Given the description of an element on the screen output the (x, y) to click on. 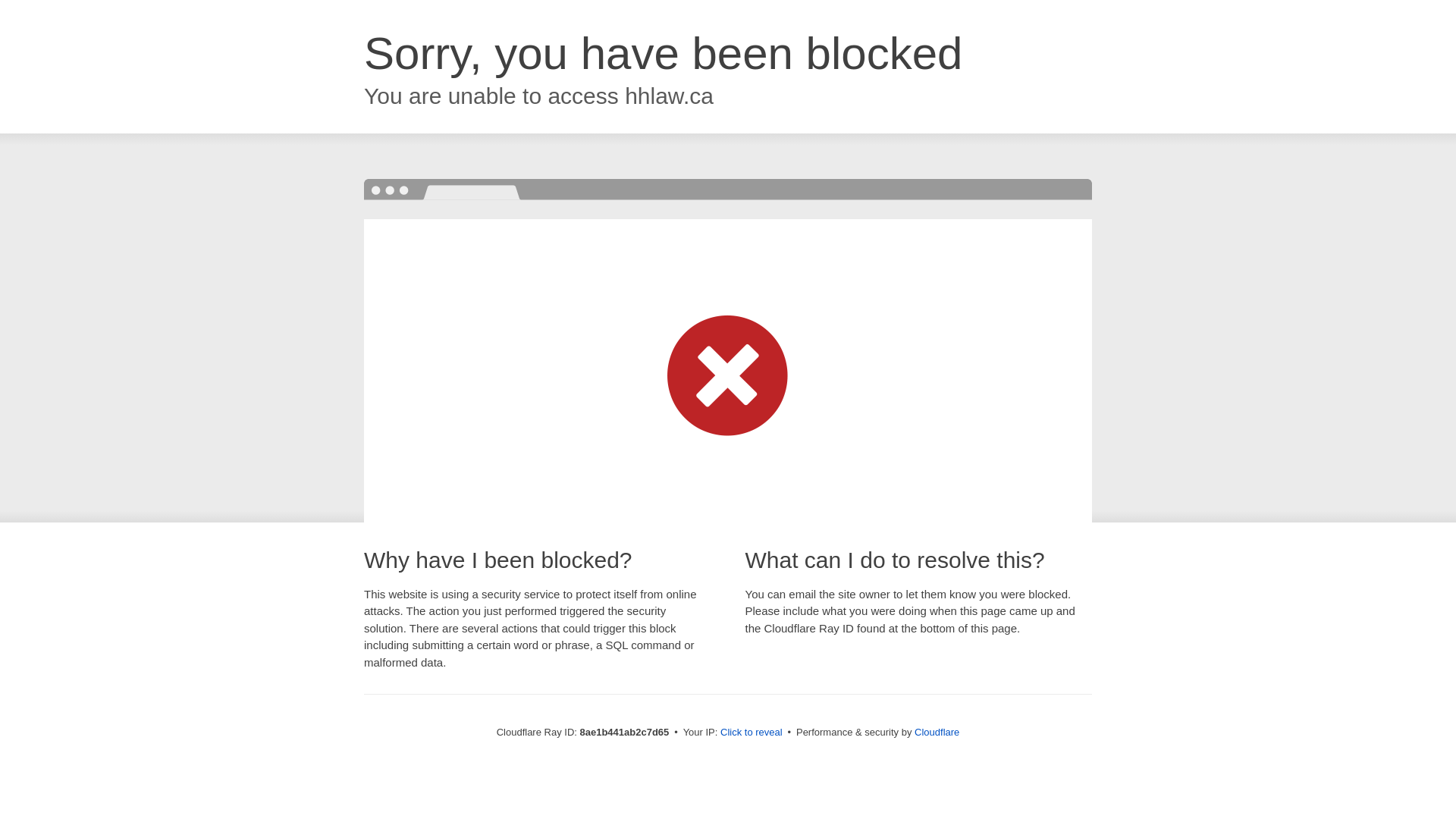
Cloudflare (936, 731)
Click to reveal (751, 732)
